Given the description of an element on the screen output the (x, y) to click on. 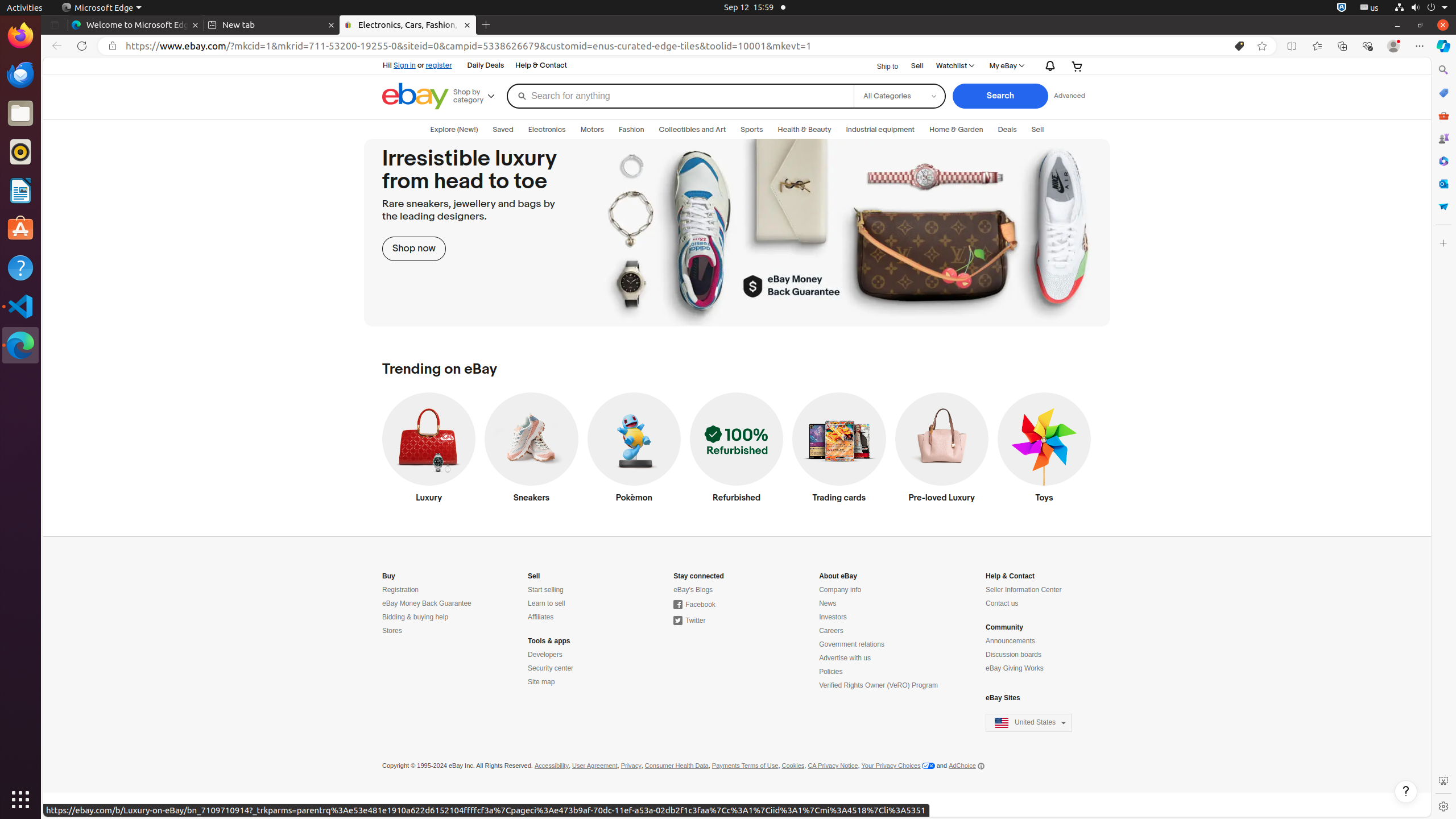
Trading cards Element type: link (839, 450)
Help & Contact Element type: link (541, 65)
Split screen Element type: push-button (1291, 45)
Search for anything Element type: combo-box (679, 95)
Daily Deals Element type: link (485, 65)
